Given the description of an element on the screen output the (x, y) to click on. 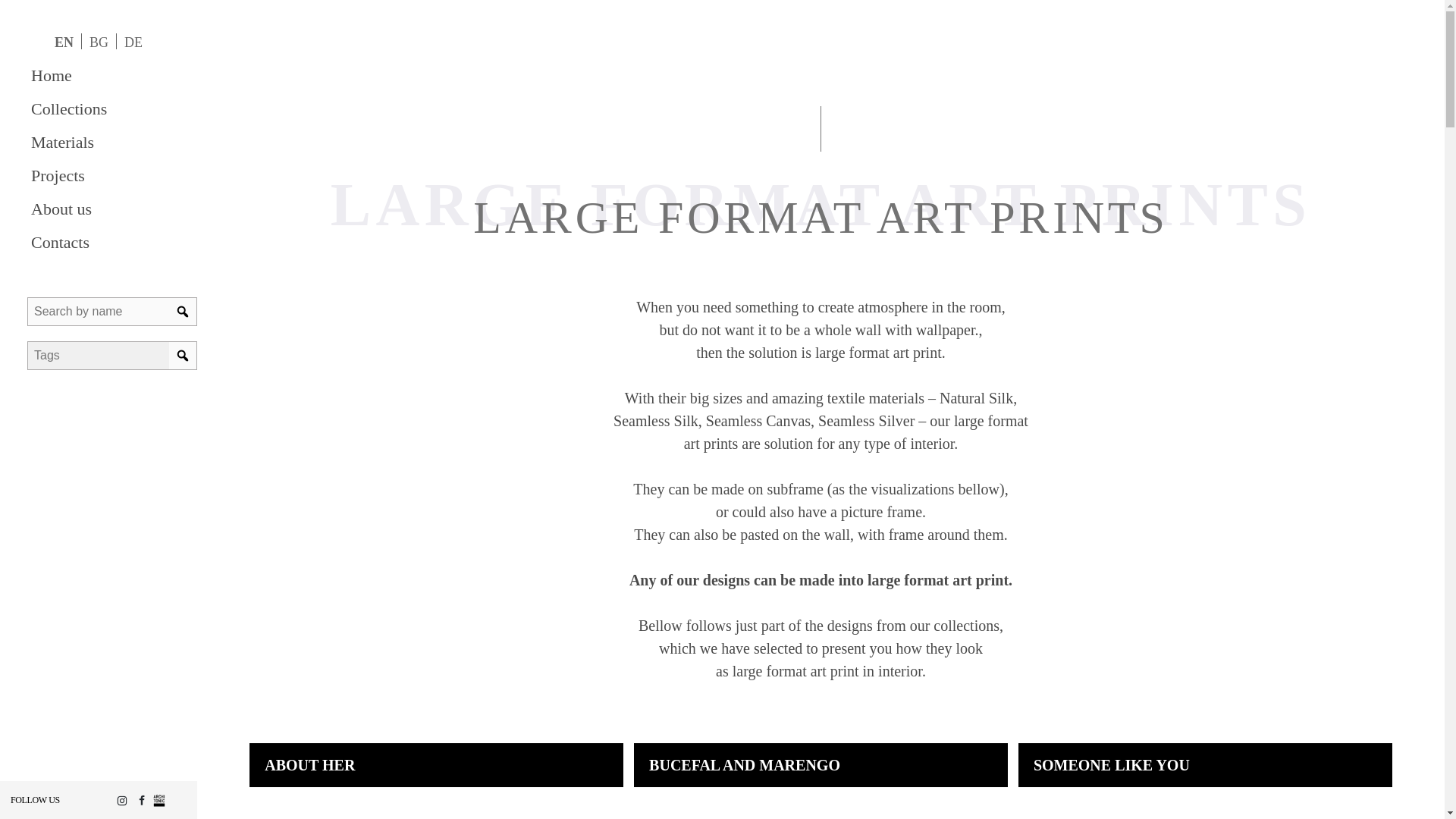
BUCEFAL AND MARENGO (744, 764)
Contacts (99, 242)
Collections (99, 109)
Projects (99, 175)
ABOUT HER (309, 764)
About us (99, 209)
EN (63, 41)
SOMEONE LIKE YOU (1111, 764)
Materials (99, 142)
DE (132, 41)
